Given the description of an element on the screen output the (x, y) to click on. 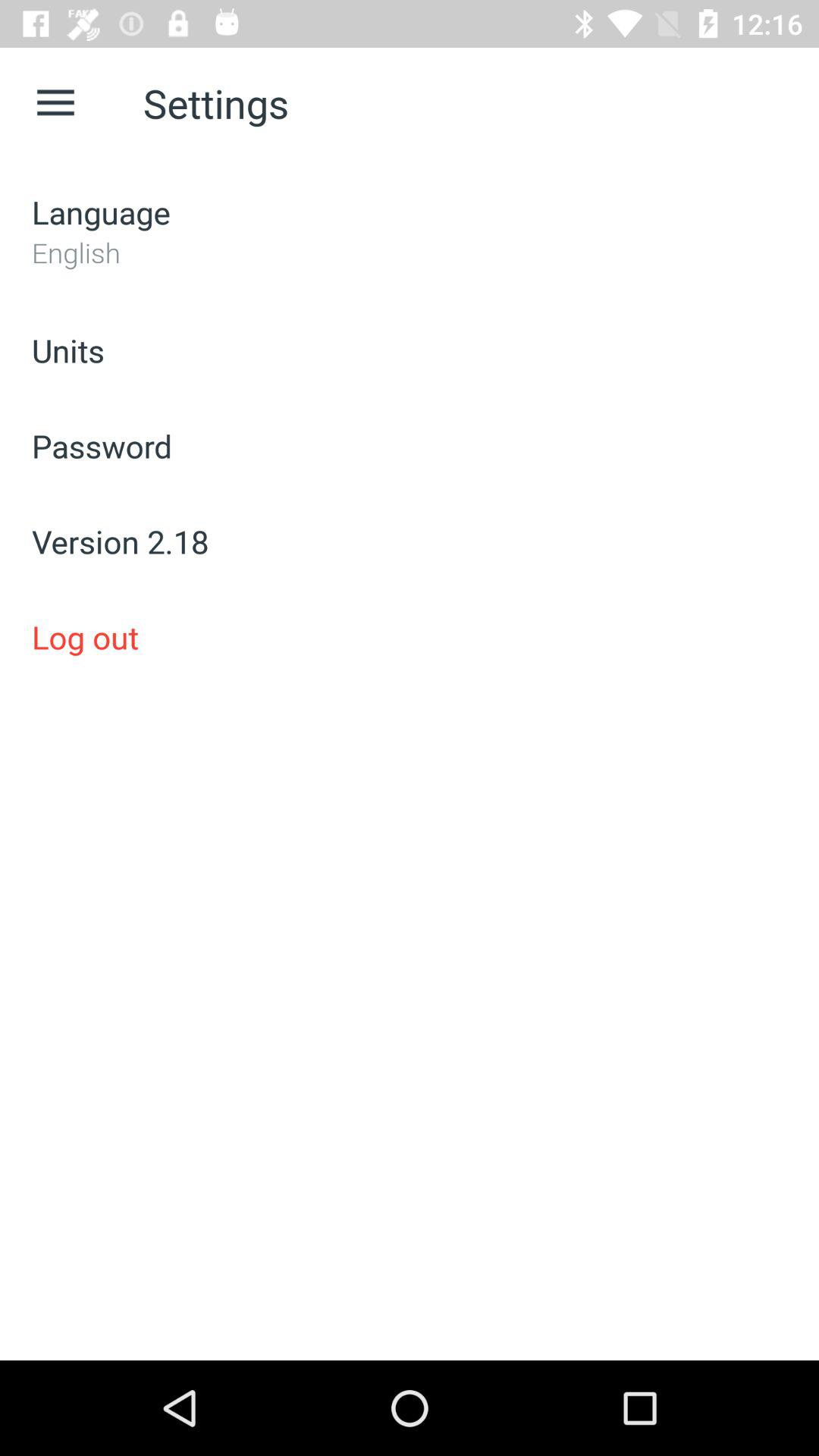
swipe until the password (409, 445)
